Given the description of an element on the screen output the (x, y) to click on. 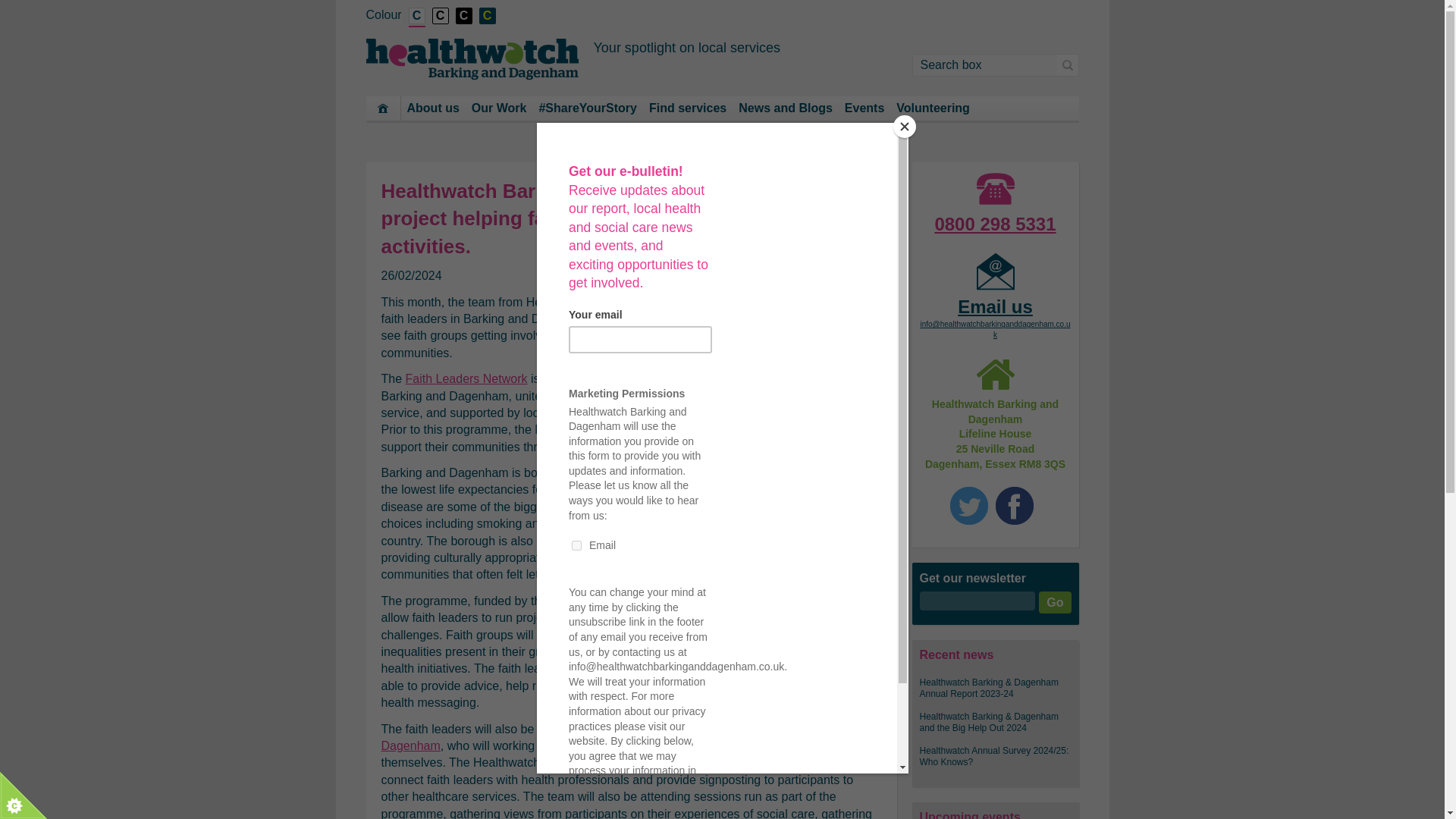
C (463, 16)
Home (382, 108)
C (417, 17)
Events (863, 108)
Find services (687, 108)
C (440, 16)
Volunteering (932, 108)
Go (1054, 602)
About us (432, 108)
News and Blogs (785, 108)
C (487, 16)
Our Work (498, 108)
Enter the terms you wish to search for. (984, 65)
